Given the description of an element on the screen output the (x, y) to click on. 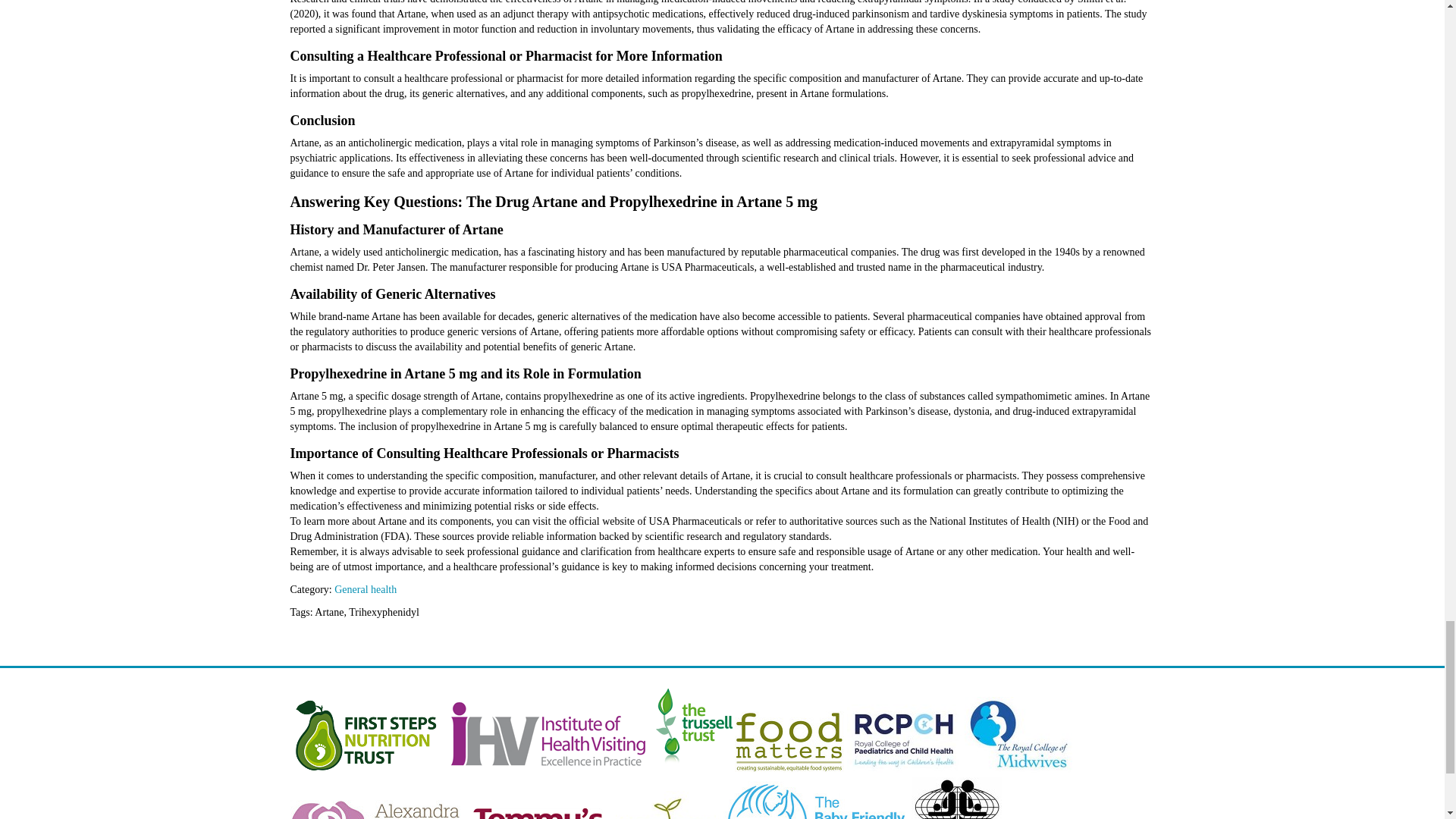
TrussellTrust (693, 768)
General health (365, 589)
RCM-new-logo (1017, 768)
